Given the description of an element on the screen output the (x, y) to click on. 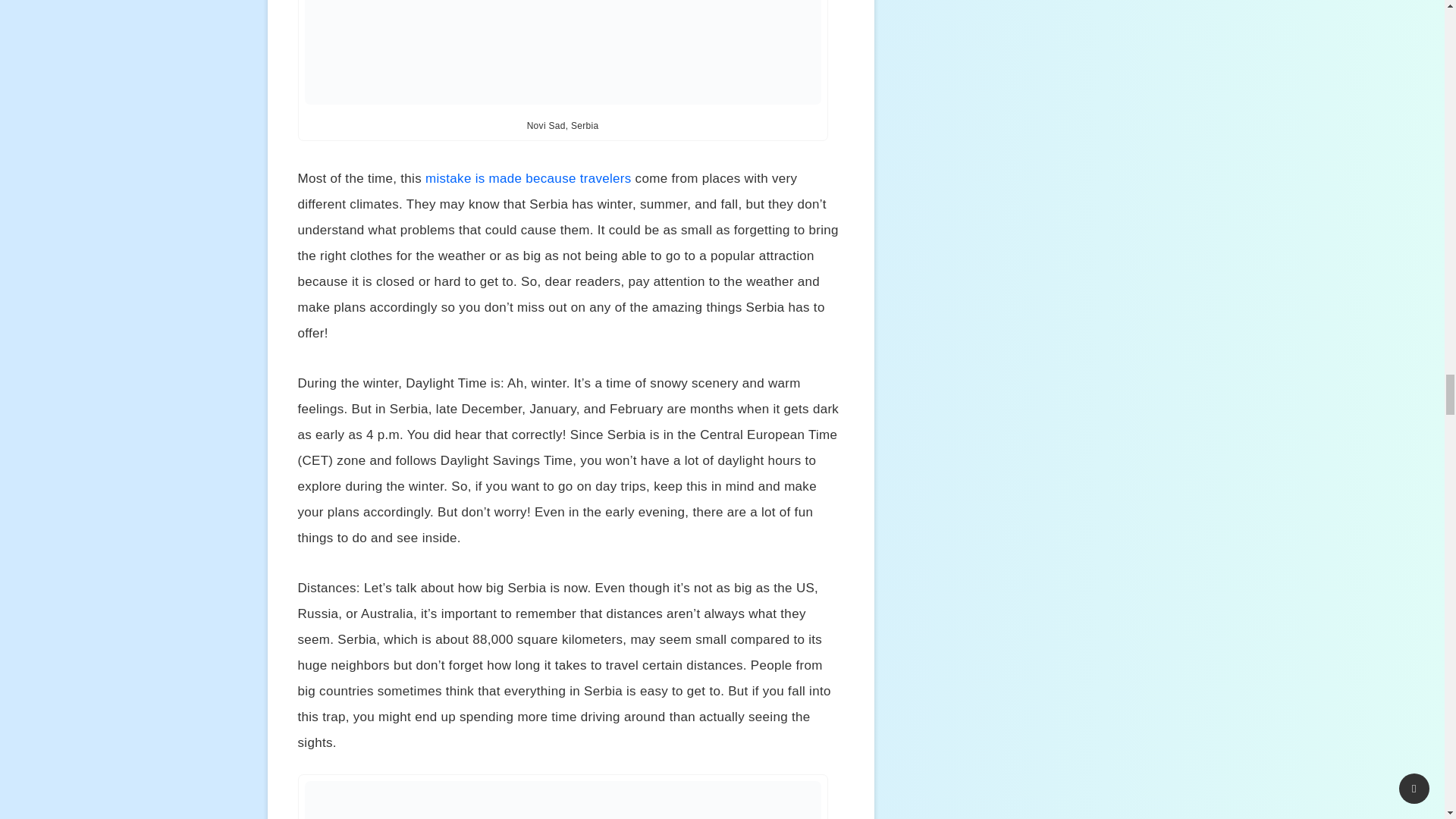
Novi Sad, Serbia (562, 52)
Pirot, Serbia (562, 800)
